Given the description of an element on the screen output the (x, y) to click on. 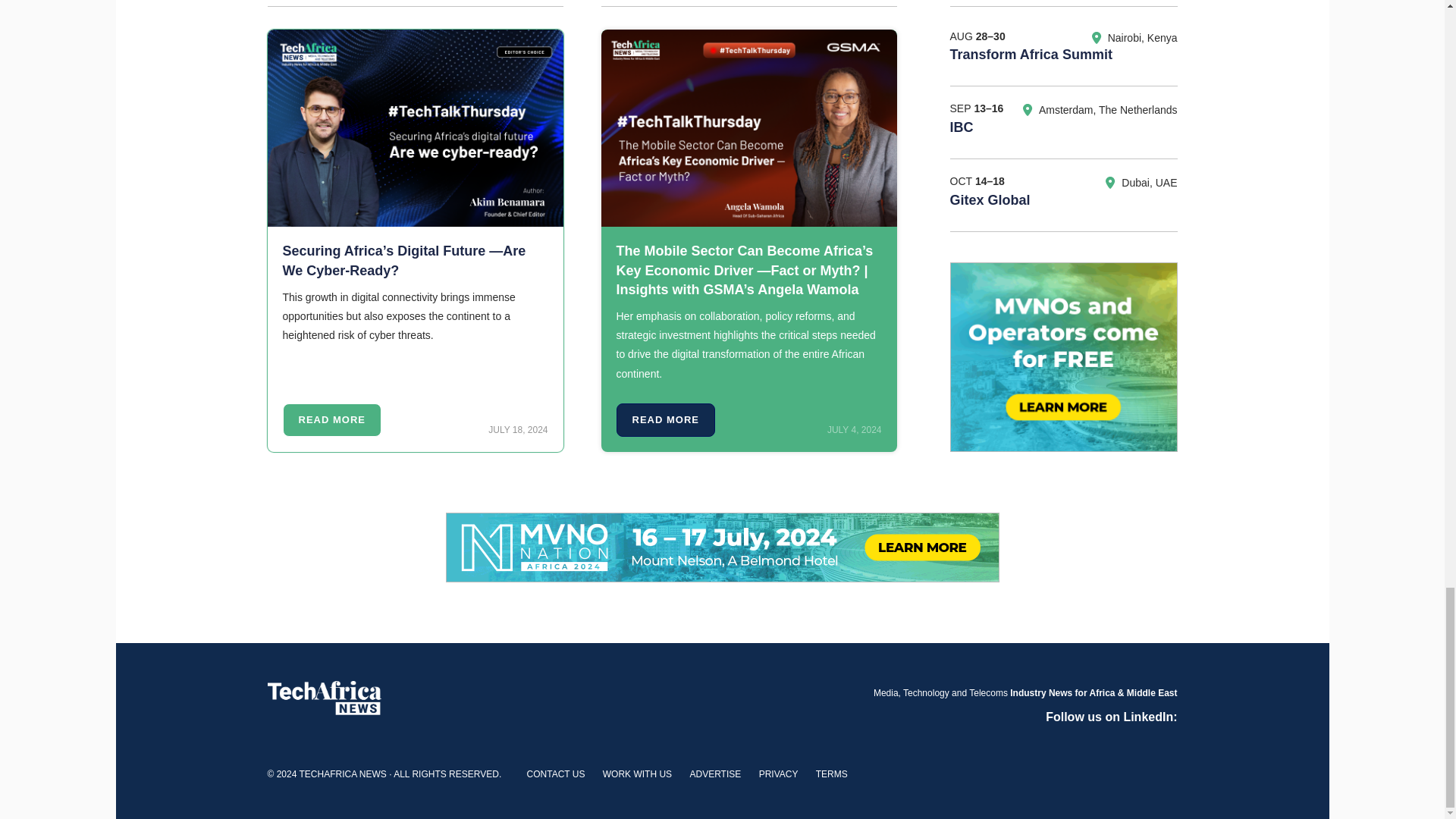
CONTACT US (556, 774)
PRIVACY (777, 774)
WORK WITH US (636, 774)
TERMS (831, 774)
ADVERTISE (714, 774)
